Given the description of an element on the screen output the (x, y) to click on. 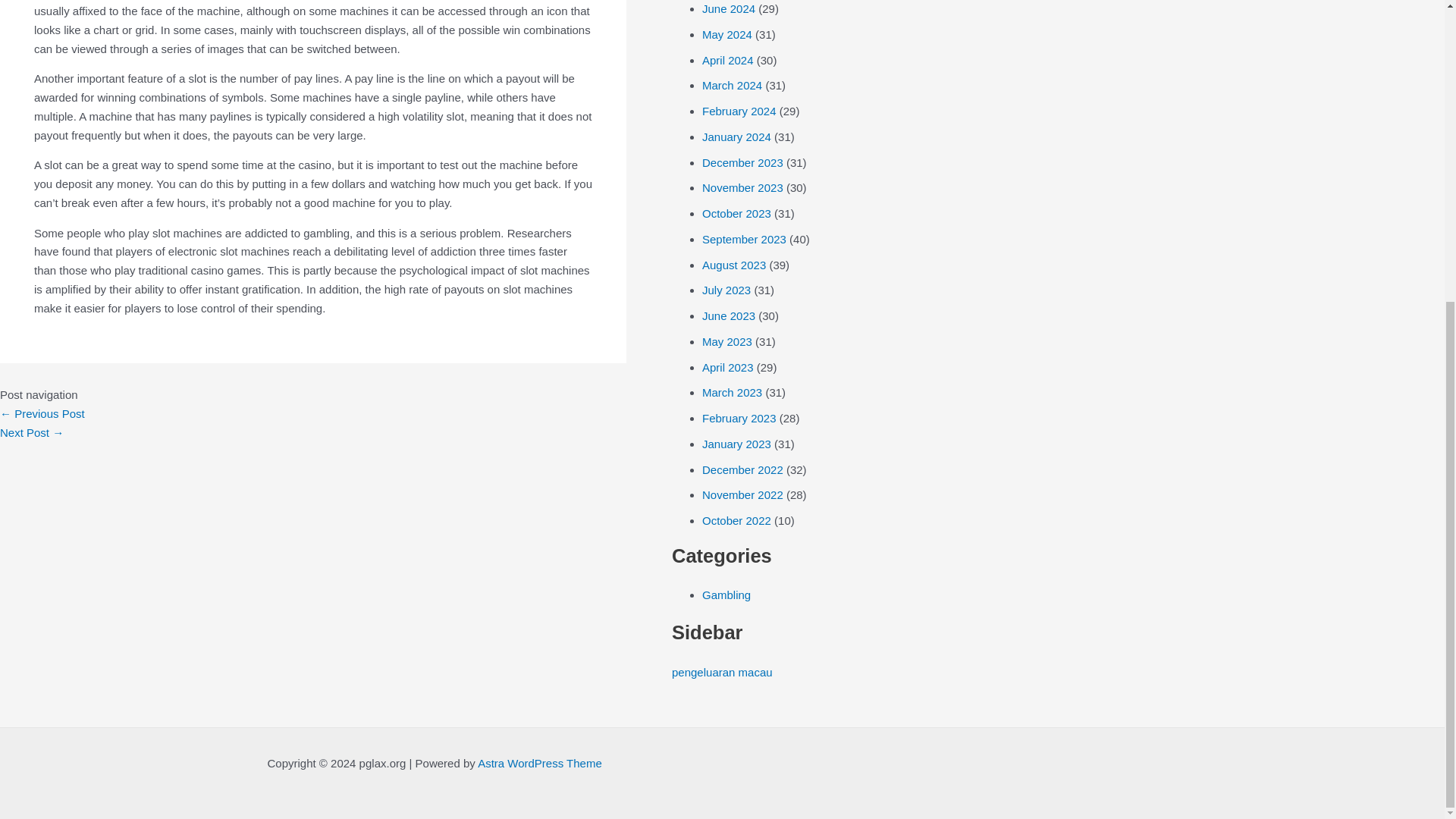
March 2024 (731, 84)
How to Find a Good Casino Online (42, 413)
June 2023 (728, 315)
October 2023 (736, 213)
April 2024 (727, 60)
July 2023 (726, 289)
December 2022 (742, 469)
October 2022 (736, 520)
February 2023 (738, 418)
August 2023 (733, 264)
